Given the description of an element on the screen output the (x, y) to click on. 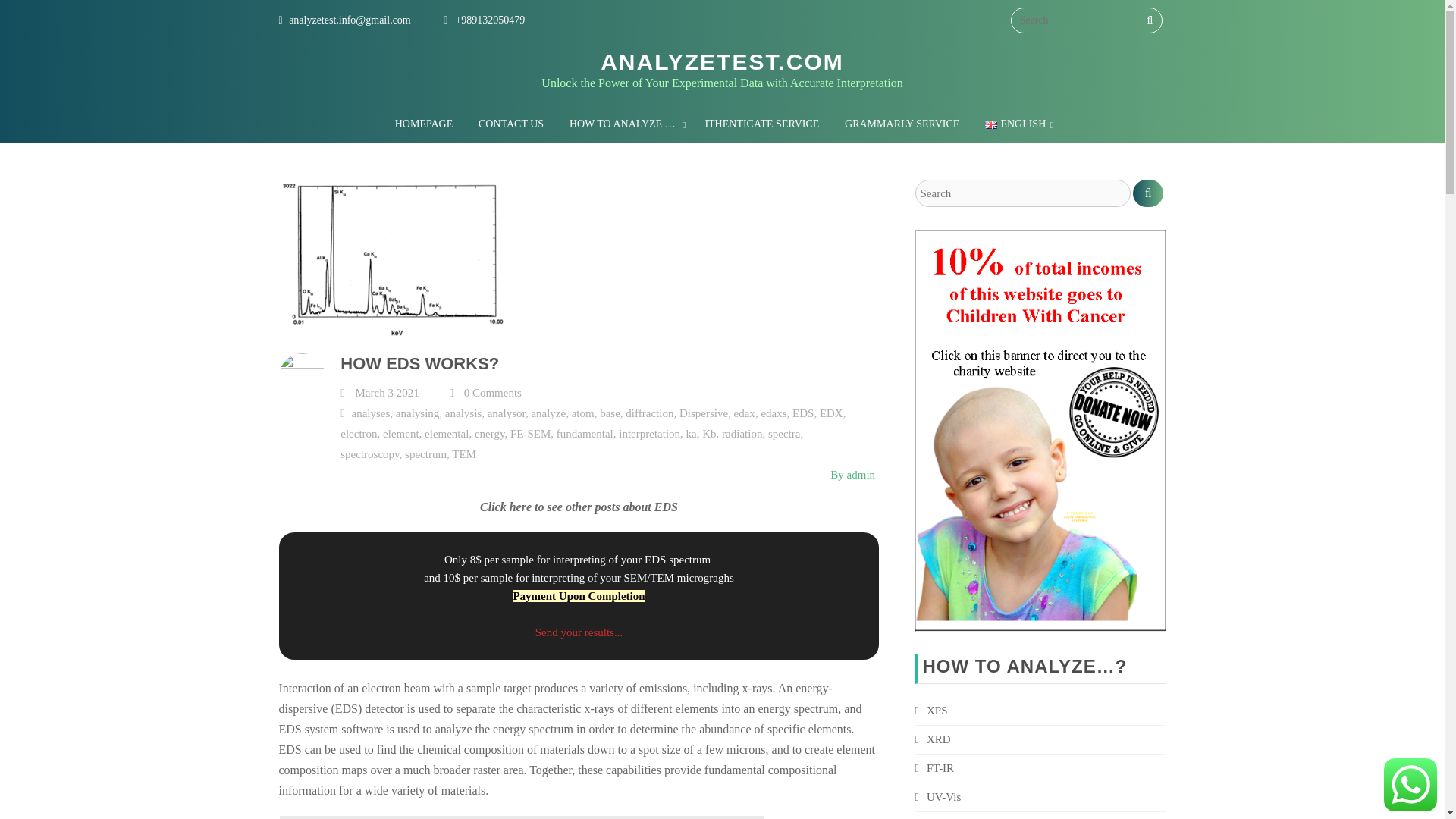
analyze (548, 413)
diffraction (649, 413)
ITHENTICATE SERVICE (761, 123)
base (609, 413)
CONTACT US (510, 123)
GRAMMARLY SERVICE (901, 123)
analysing (417, 413)
Dispersive (703, 413)
analysis (463, 413)
atom (583, 413)
Posts by admin (861, 474)
analysor (506, 413)
edax (744, 413)
ENGLISH (1017, 123)
